Given the description of an element on the screen output the (x, y) to click on. 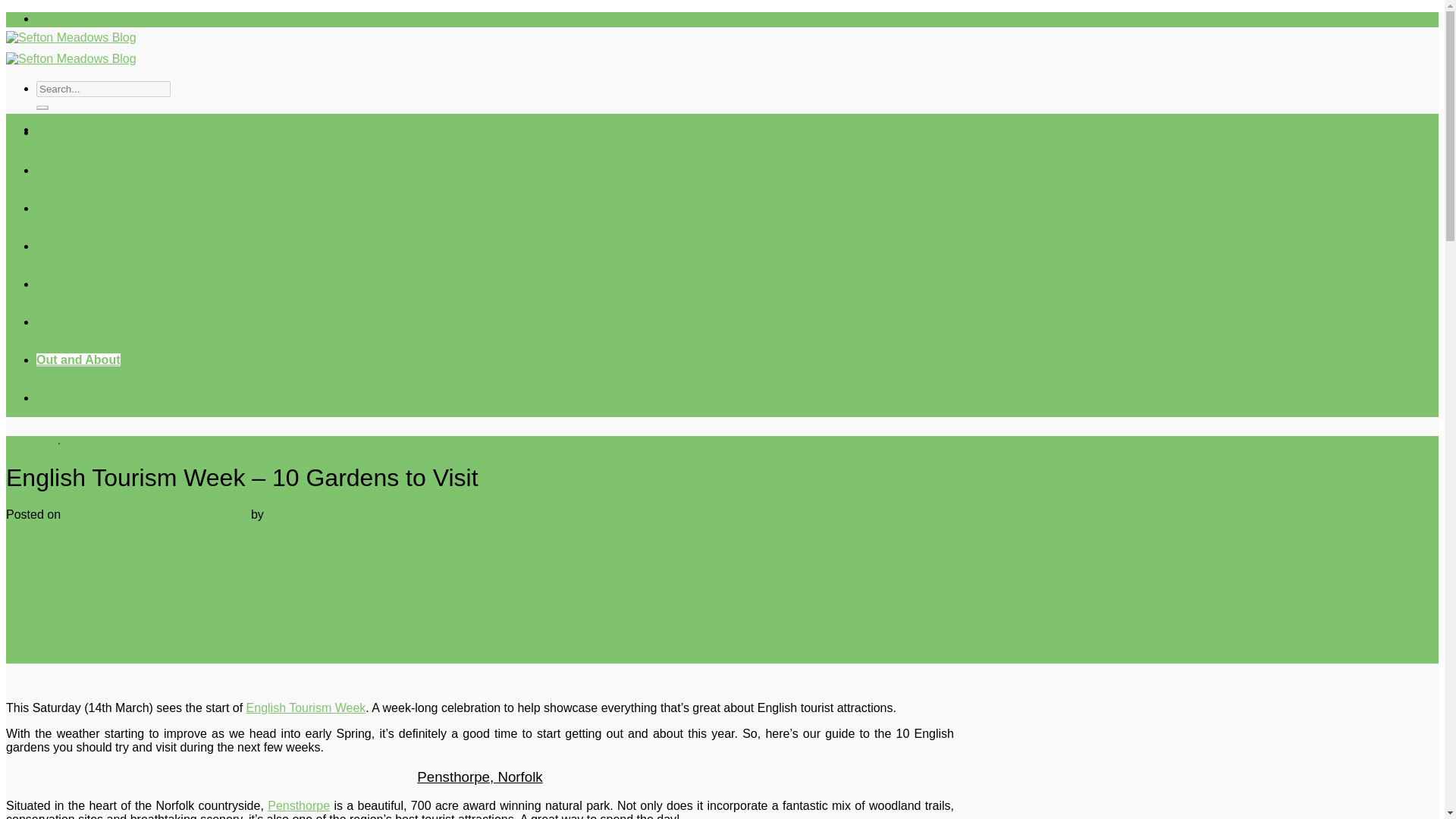
News (52, 321)
Competition Corner (92, 397)
Get The Look (74, 245)
UK (68, 440)
Home (52, 132)
English Tourism Week (306, 707)
Out and About (78, 359)
Sefton Meadows Blog - Just another WordPress site (70, 48)
Pensthorpe (298, 805)
